Given the description of an element on the screen output the (x, y) to click on. 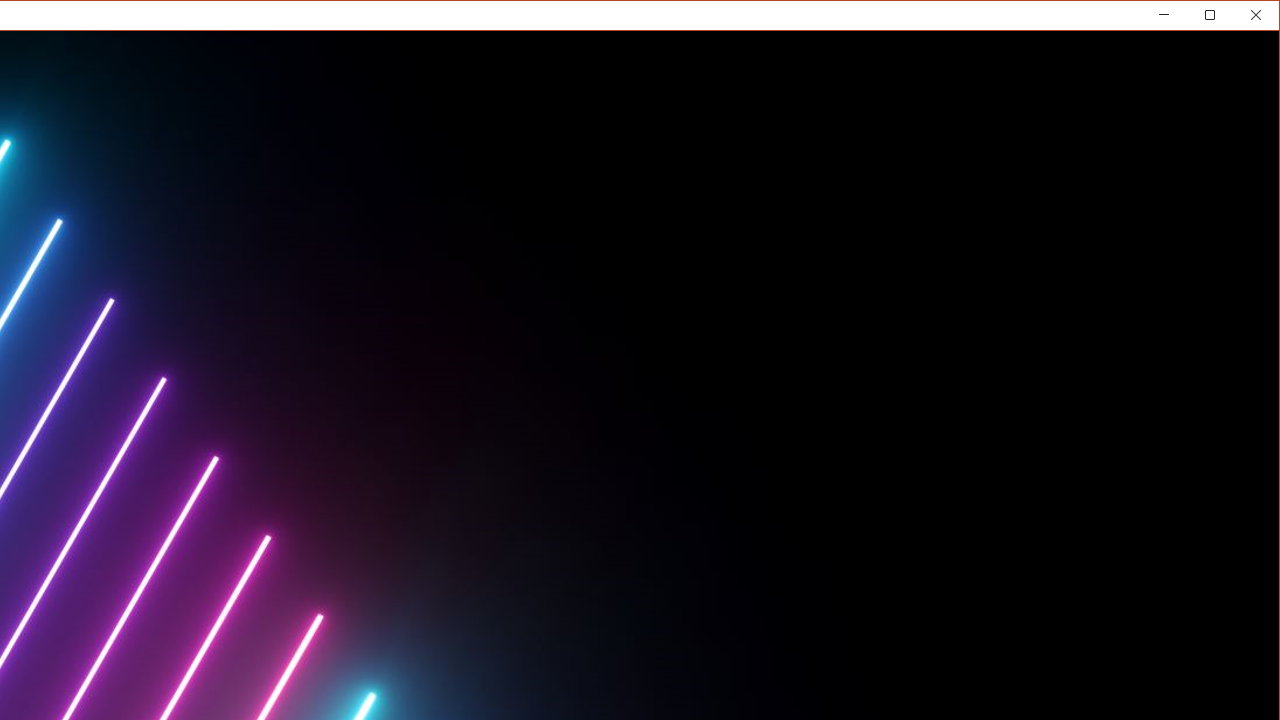
Maximize (1238, 18)
